Given the description of an element on the screen output the (x, y) to click on. 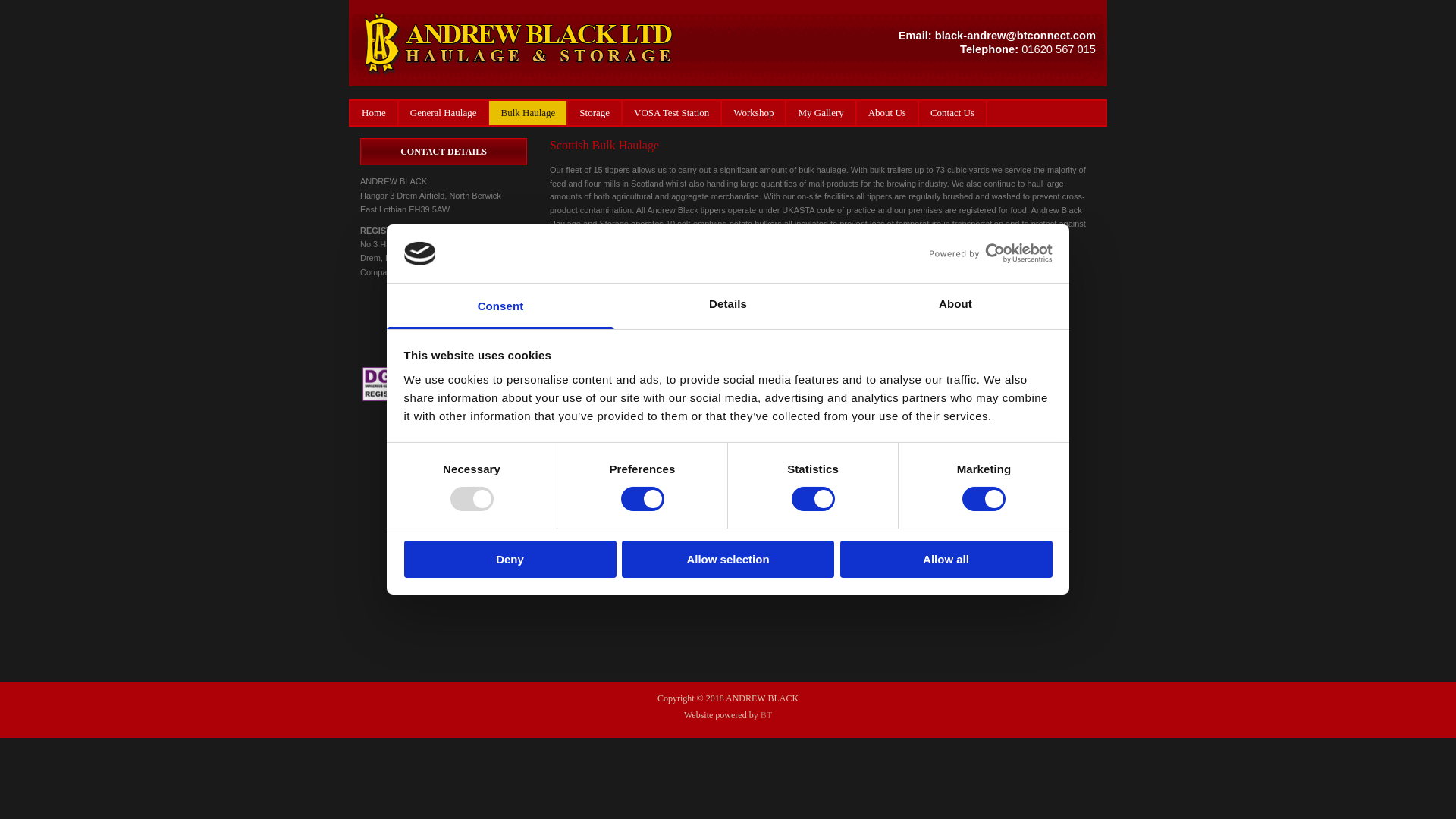
Deny (509, 559)
Contact Us (952, 112)
Allow selection (727, 559)
About Us (887, 112)
My Gallery (821, 112)
Bulk Haulage (528, 112)
Consent (500, 306)
VOSA Test Station (672, 112)
01620 567 015 (1059, 49)
Storage (595, 112)
Home (374, 112)
Workshop (754, 112)
Details (727, 306)
General Haulage (443, 112)
Allow all (946, 559)
